Given the description of an element on the screen output the (x, y) to click on. 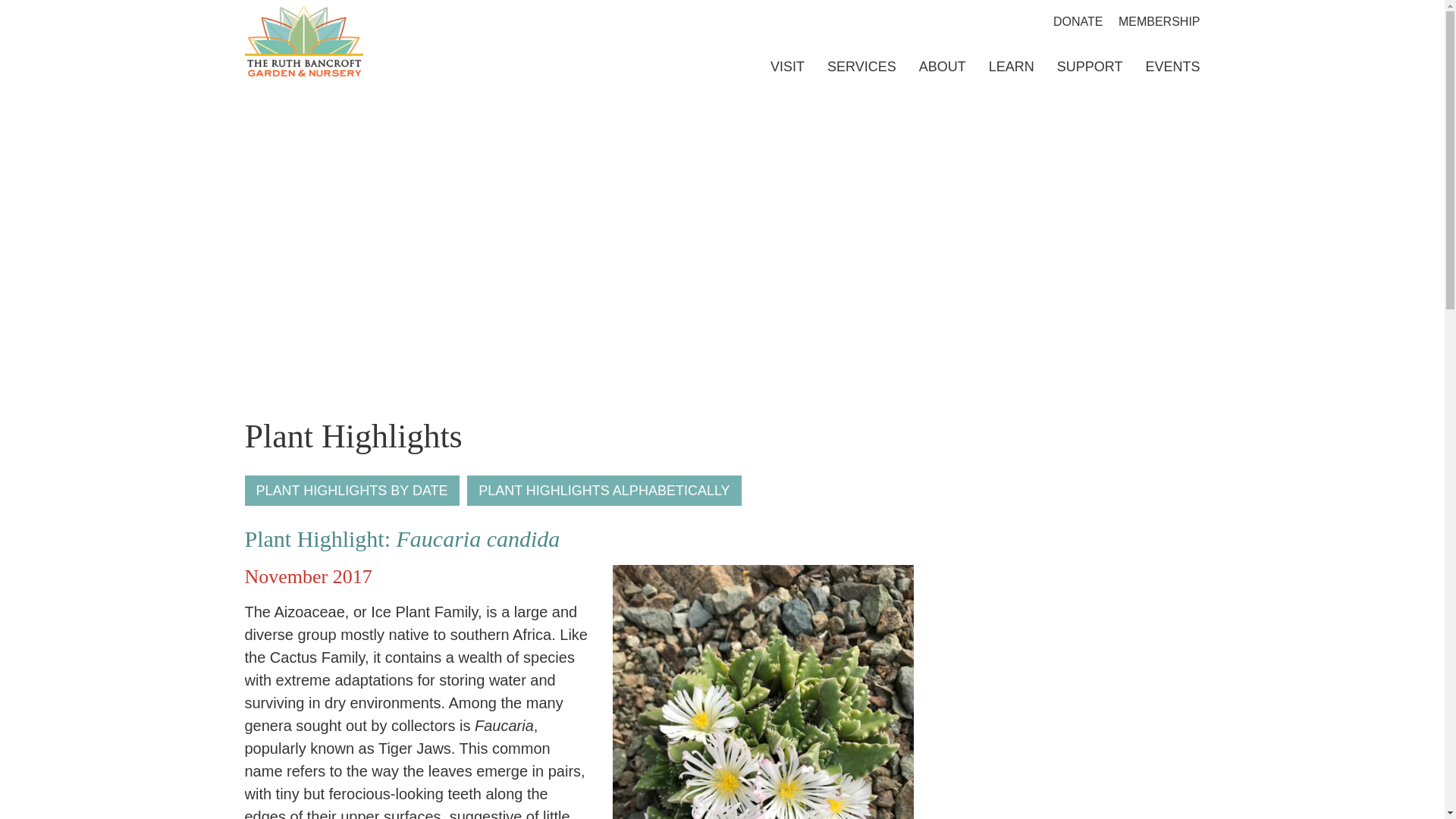
Shop (949, 21)
My Account (986, 21)
SERVICES (850, 66)
DONATE (1077, 21)
VISIT (776, 66)
MEMBERSHIP (1158, 21)
cart (1023, 21)
